Given the description of an element on the screen output the (x, y) to click on. 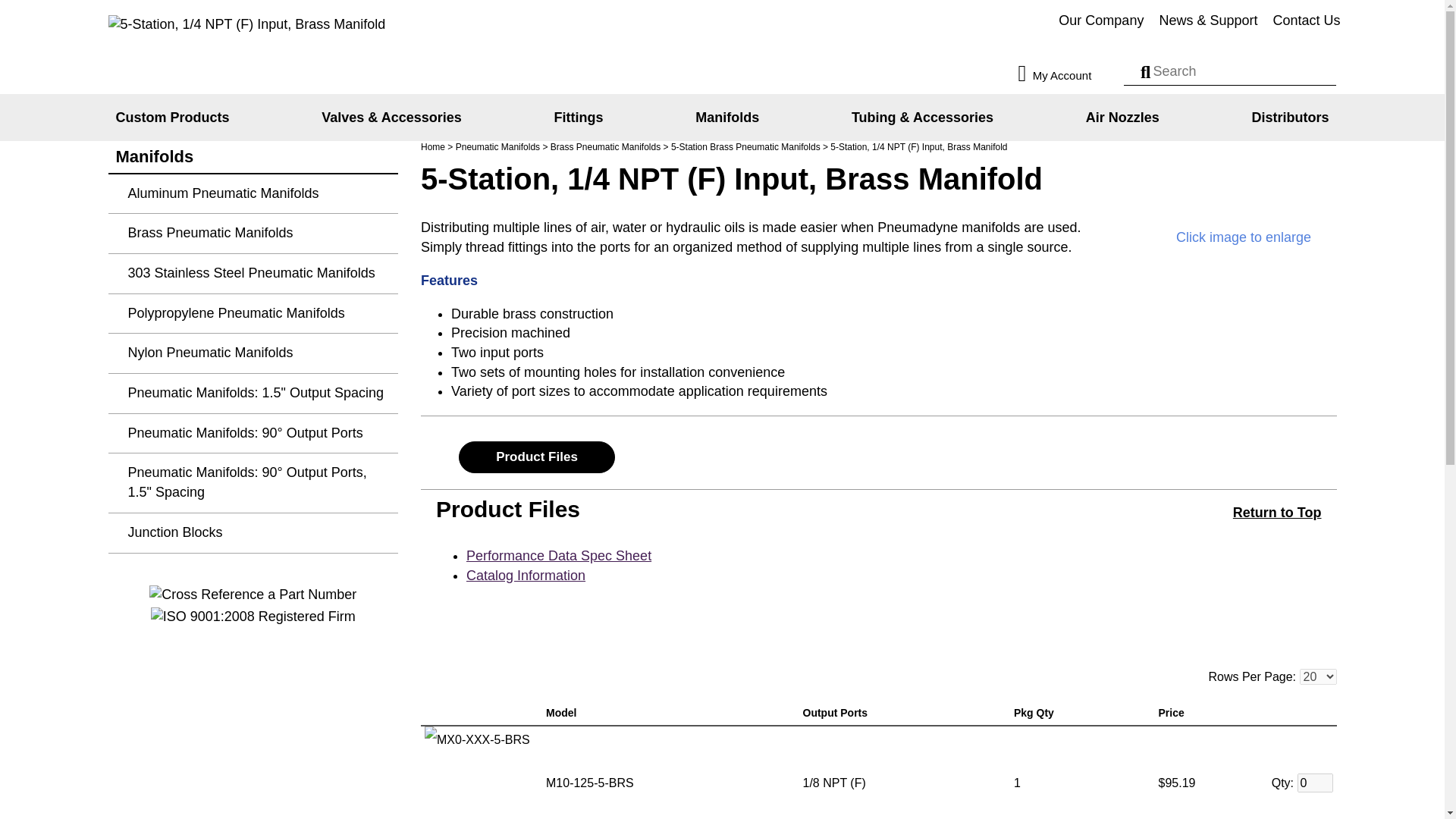
  My Account (1068, 74)
0 (1314, 782)
Our Company (1101, 21)
Contact Us (1306, 21)
ISO 9001:2008 Registered Firm (252, 617)
Cross Reference a Part Number (253, 594)
